Given the description of an element on the screen output the (x, y) to click on. 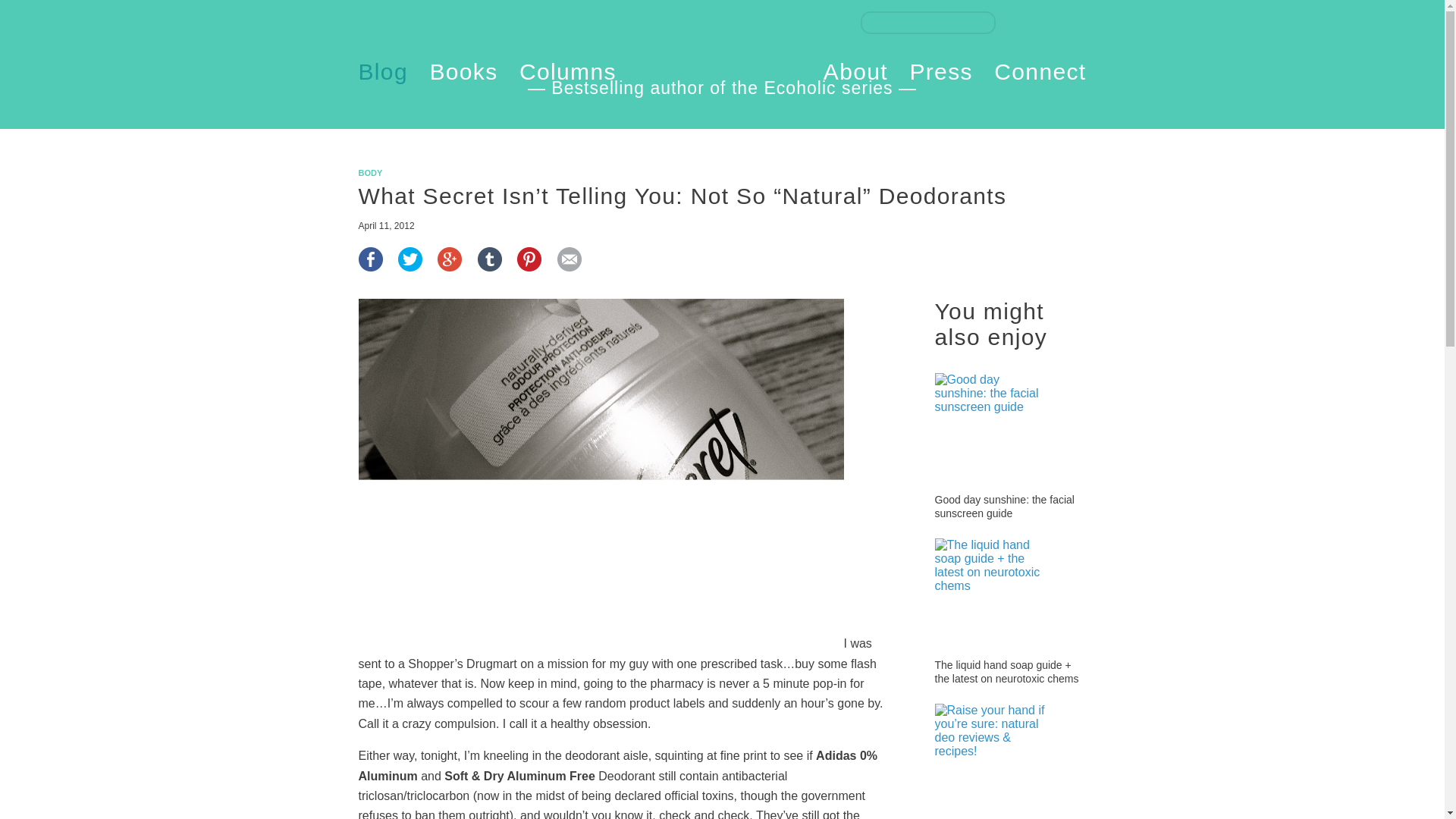
Instagram (1075, 22)
Twitter (1047, 22)
Adria Vasil (721, 53)
Pin it (528, 267)
Post to Tumblr (489, 267)
Facebook (1018, 22)
Good day sunshine: the facial sunscreen guide (1004, 506)
BODY (369, 172)
Email (568, 267)
Tweet (409, 267)
